Given the description of an element on the screen output the (x, y) to click on. 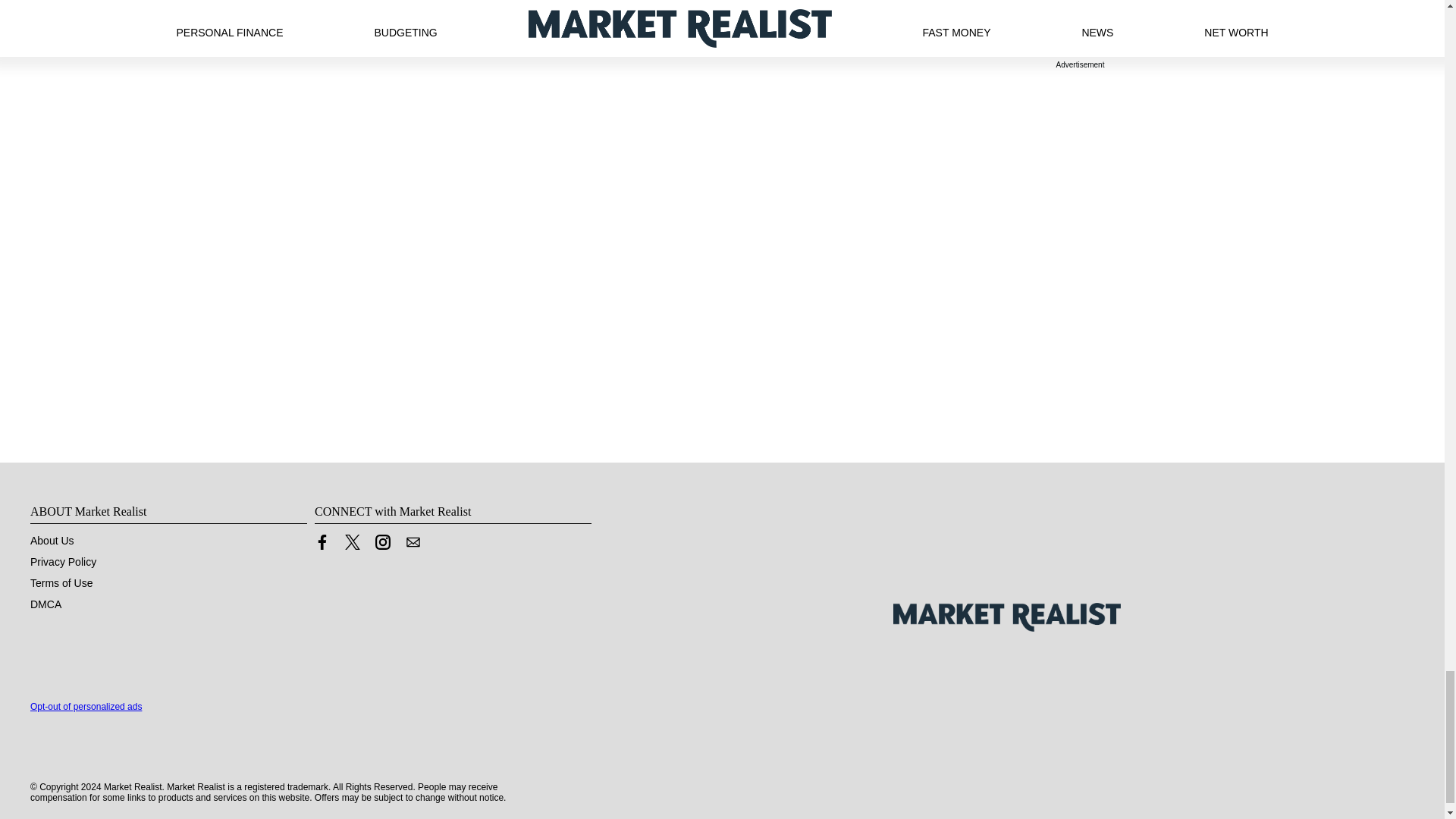
About Us (52, 540)
Link to X (352, 545)
Link to Instagram (382, 541)
Privacy Policy (63, 562)
Terms of Use (61, 582)
Link to Instagram (382, 545)
DMCA (45, 604)
Contact us by Email (413, 541)
About Us (52, 540)
Contact us by Email (413, 545)
Link to X (352, 541)
Link to Facebook (322, 541)
DMCA (45, 604)
Link to Facebook (322, 545)
Privacy Policy (63, 562)
